Given the description of an element on the screen output the (x, y) to click on. 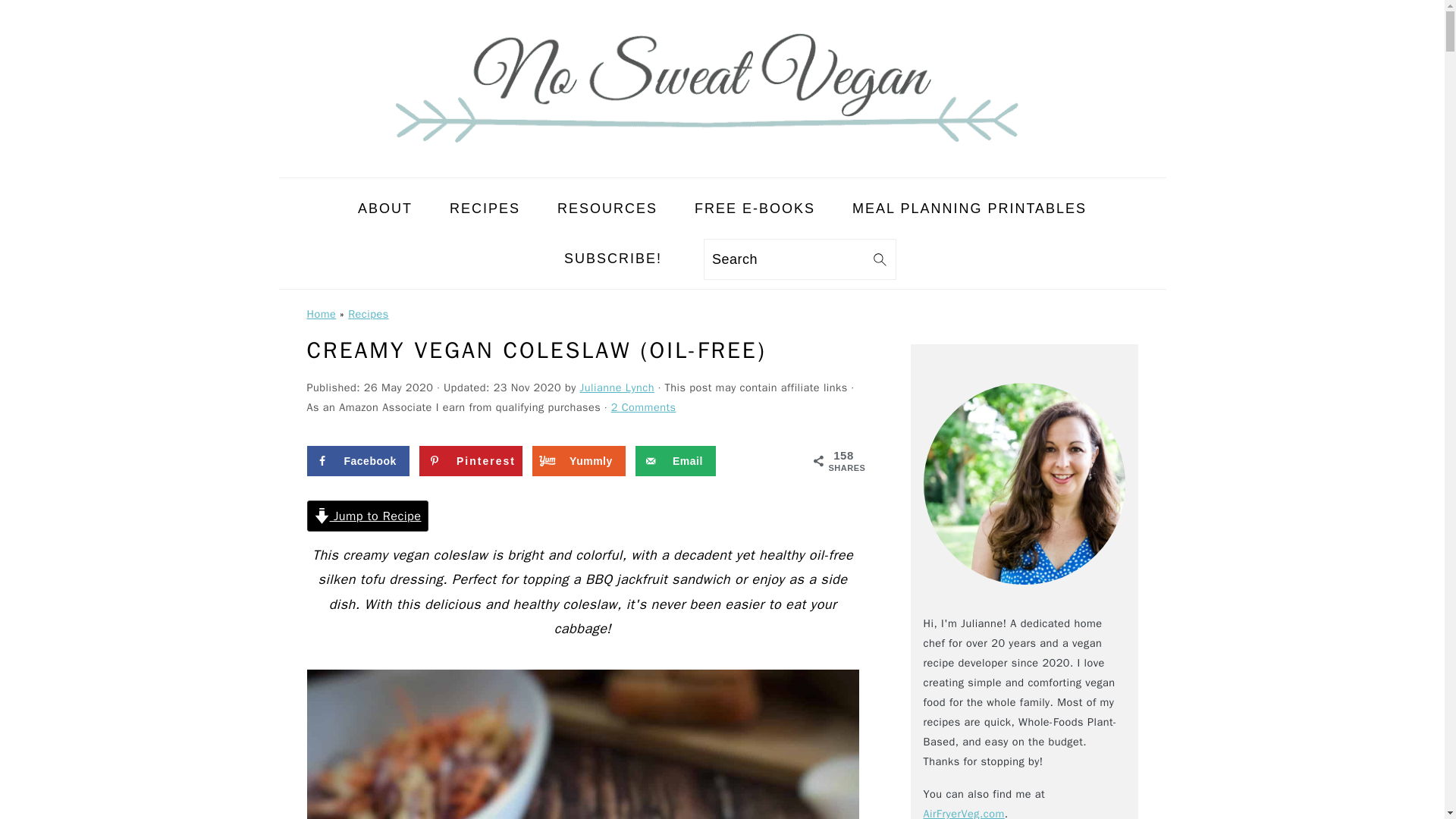
ABOUT (385, 208)
Share on Yummly (579, 460)
Send over email (675, 460)
Save to Pinterest (470, 460)
RECIPES (484, 208)
No Sweat Vegan (722, 164)
RESOURCES (606, 208)
